Given the description of an element on the screen output the (x, y) to click on. 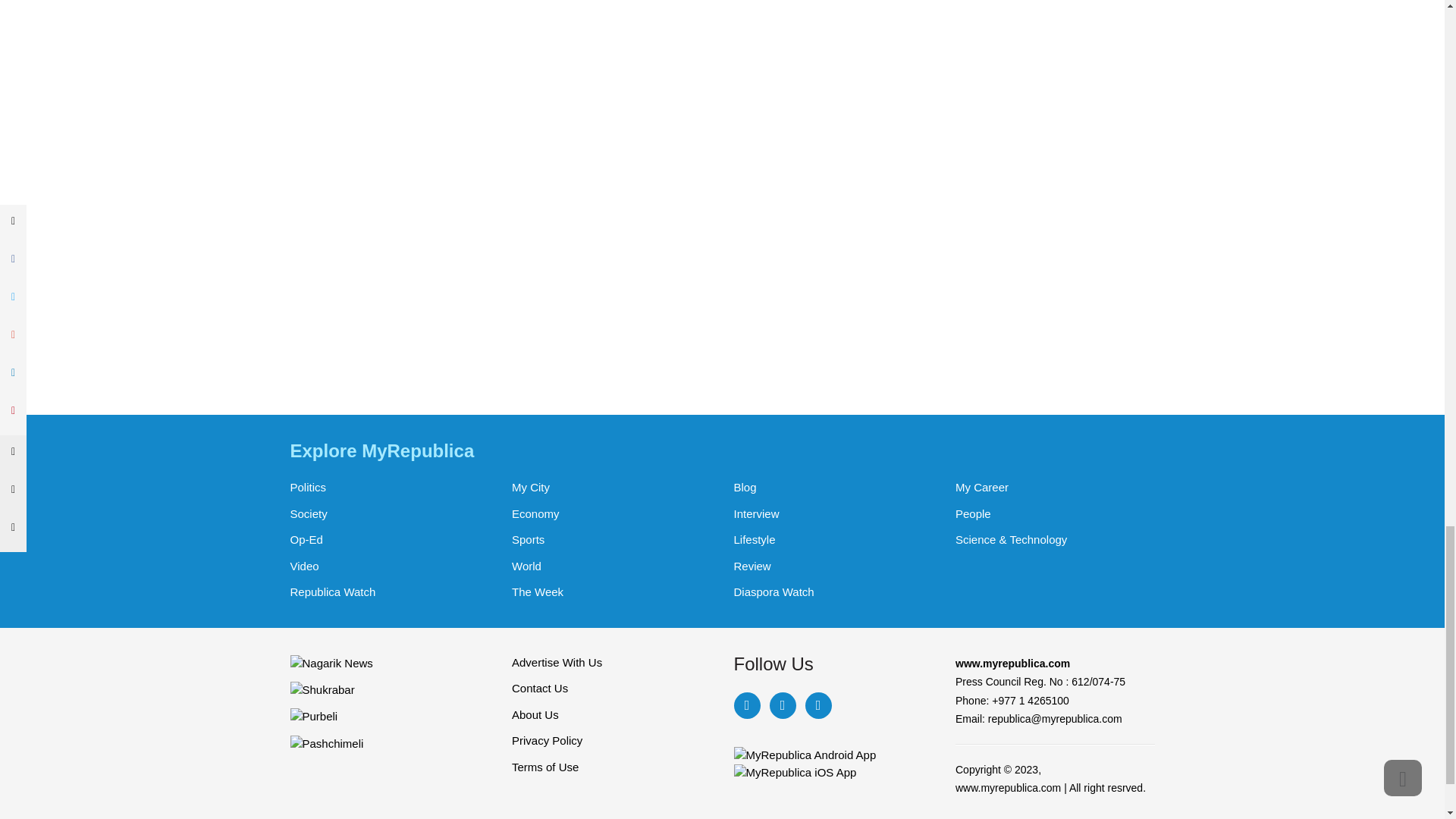
Facebook (746, 705)
Youtube (818, 705)
Twitter (781, 705)
